Given the description of an element on the screen output the (x, y) to click on. 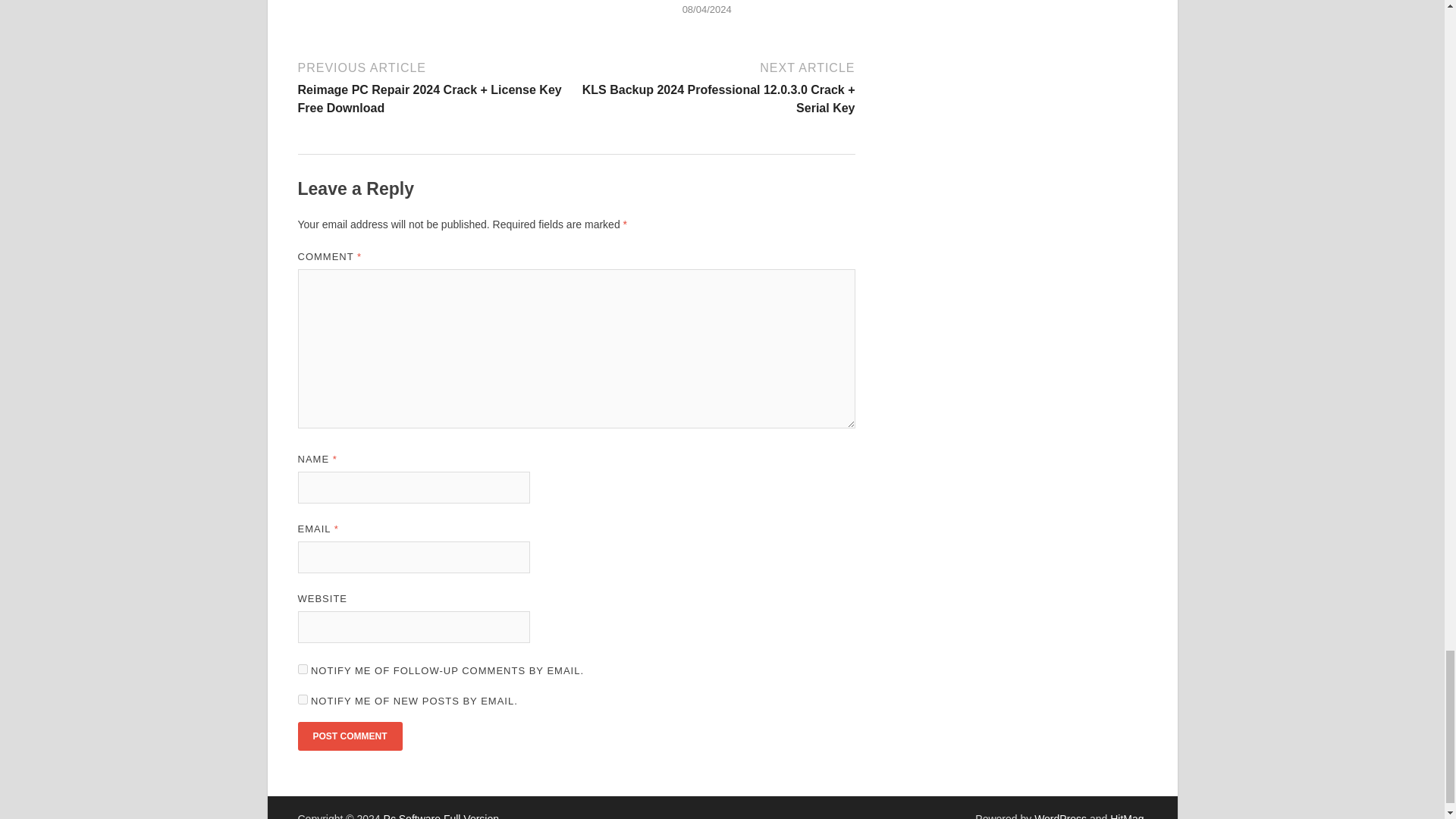
subscribe (302, 699)
Post Comment (349, 736)
subscribe (302, 669)
